Given the description of an element on the screen output the (x, y) to click on. 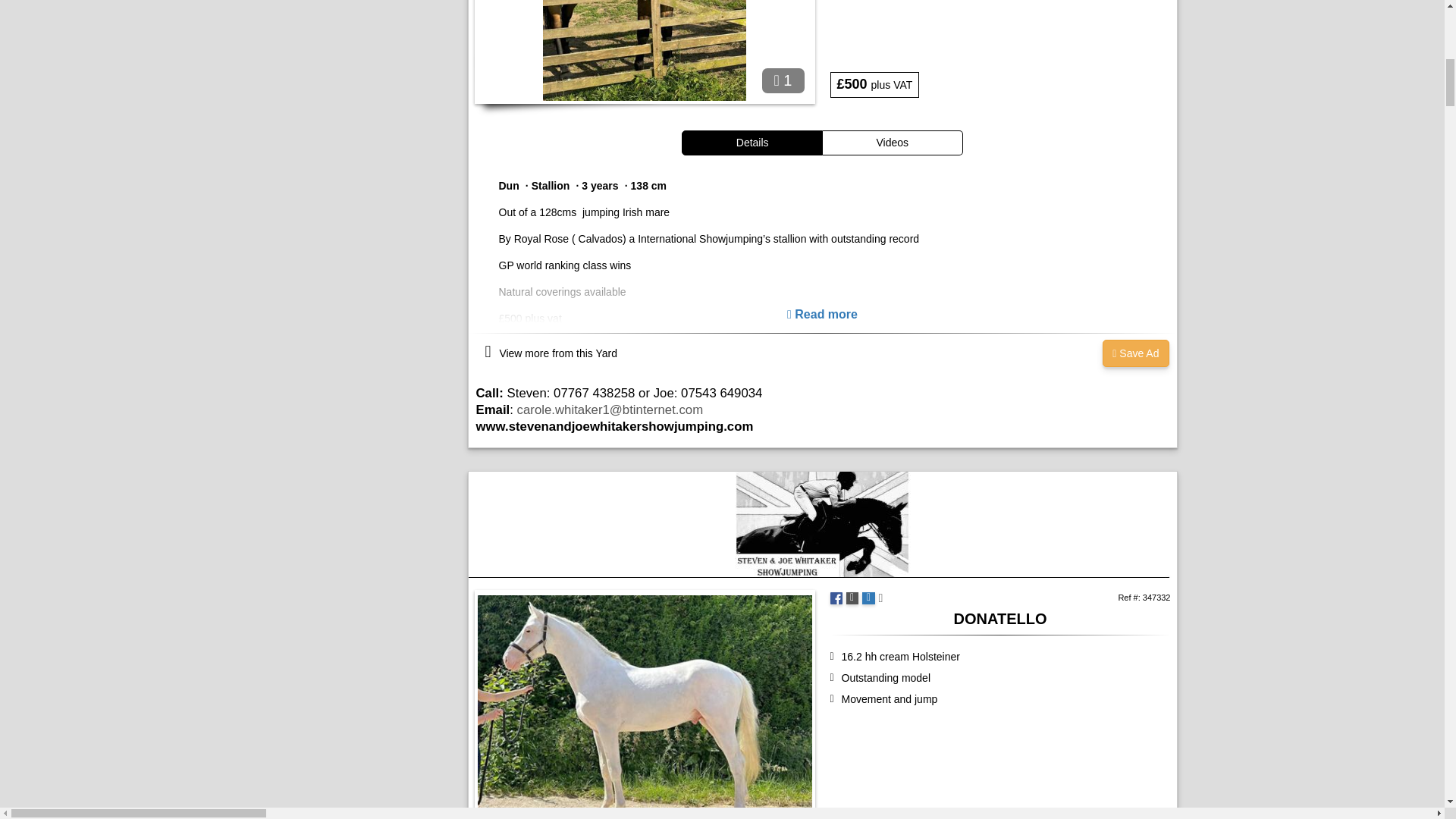
Print (852, 598)
Email a Friend (868, 598)
Share on Facebook (835, 598)
